Given the description of an element on the screen output the (x, y) to click on. 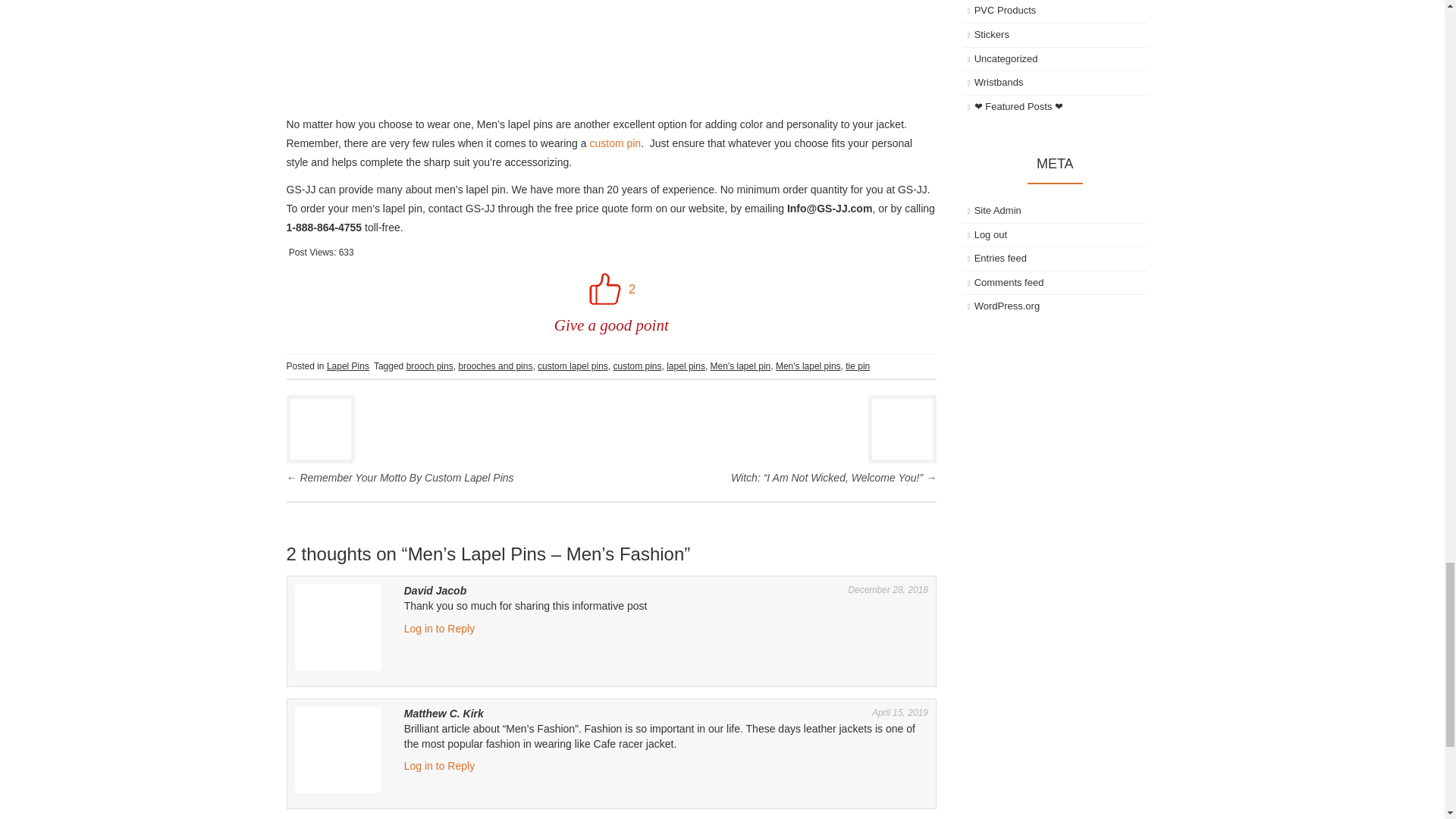
Featured Posts (1018, 106)
Log in to Reply (439, 766)
custom lapel pins (572, 366)
custom pins (636, 366)
custom pin (614, 143)
Men's lapel pin (740, 366)
Men's lapel pins (808, 366)
lapel pins (685, 366)
Lapel Pins (347, 366)
tie pin (857, 366)
